Given the description of an element on the screen output the (x, y) to click on. 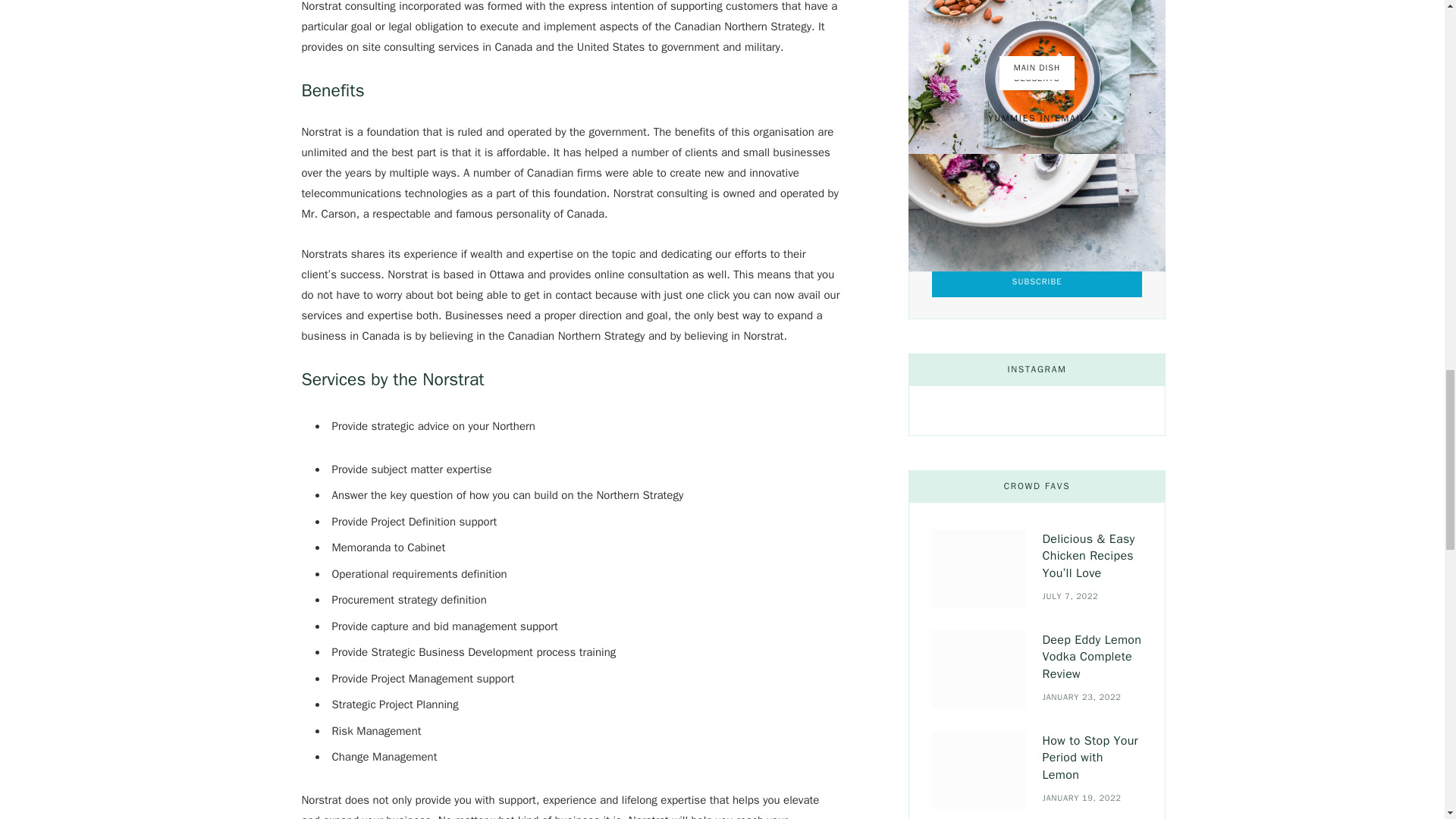
Subscribe (1036, 281)
